Given the description of an element on the screen output the (x, y) to click on. 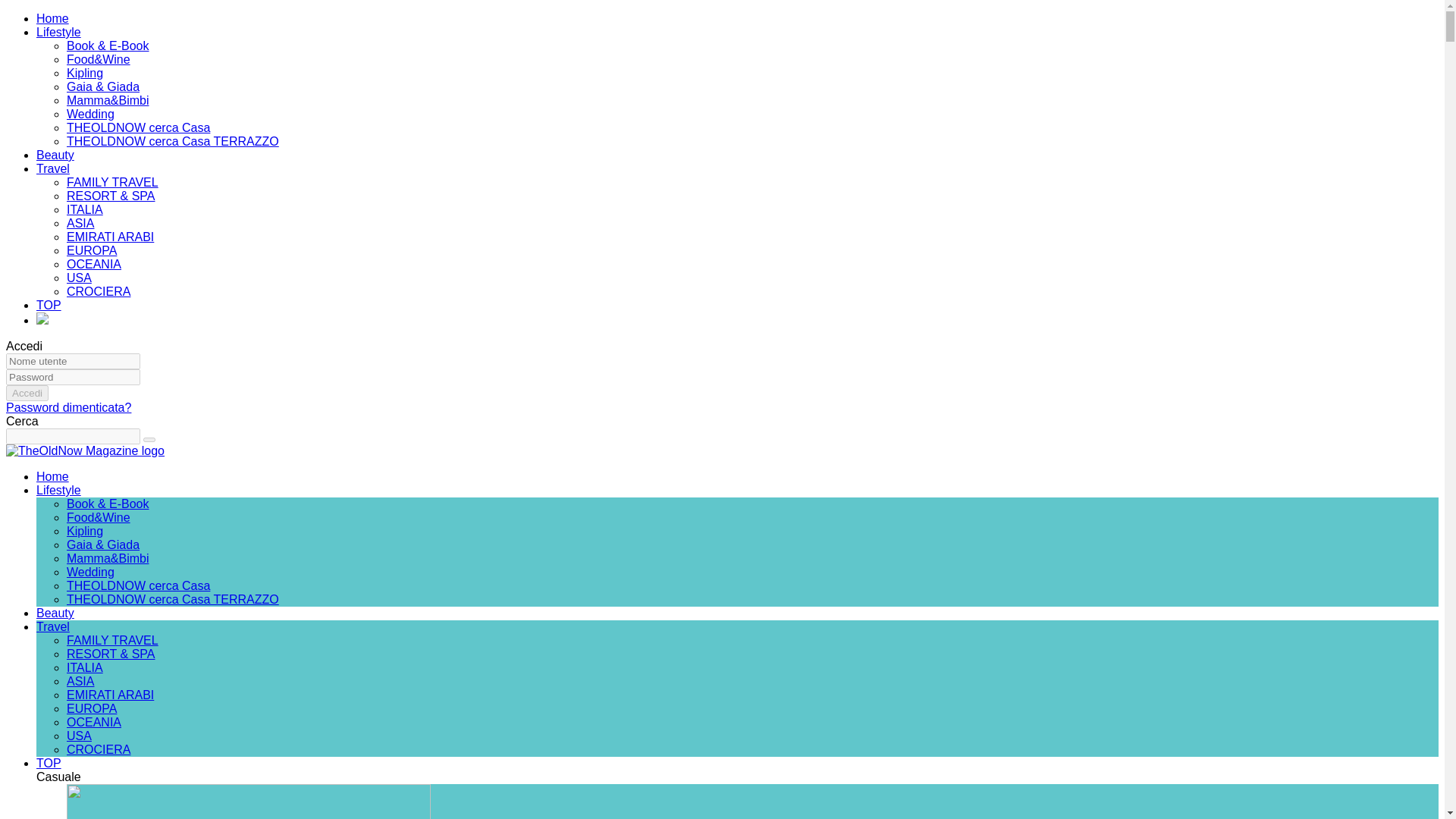
Accedi (26, 392)
ITALIA (84, 209)
CROCIERA (98, 291)
USA (78, 277)
Accedi (26, 392)
THEOLDNOW cerca Casa TERRAZZO (172, 141)
OCEANIA (93, 264)
EMIRATI ARABI (110, 236)
Password dimenticata? (68, 407)
Password dimenticata? (68, 407)
Wedding (90, 571)
THEOLDNOW cerca Casa (137, 127)
Kipling (84, 72)
Home (52, 18)
Kipling (84, 530)
